Given the description of an element on the screen output the (x, y) to click on. 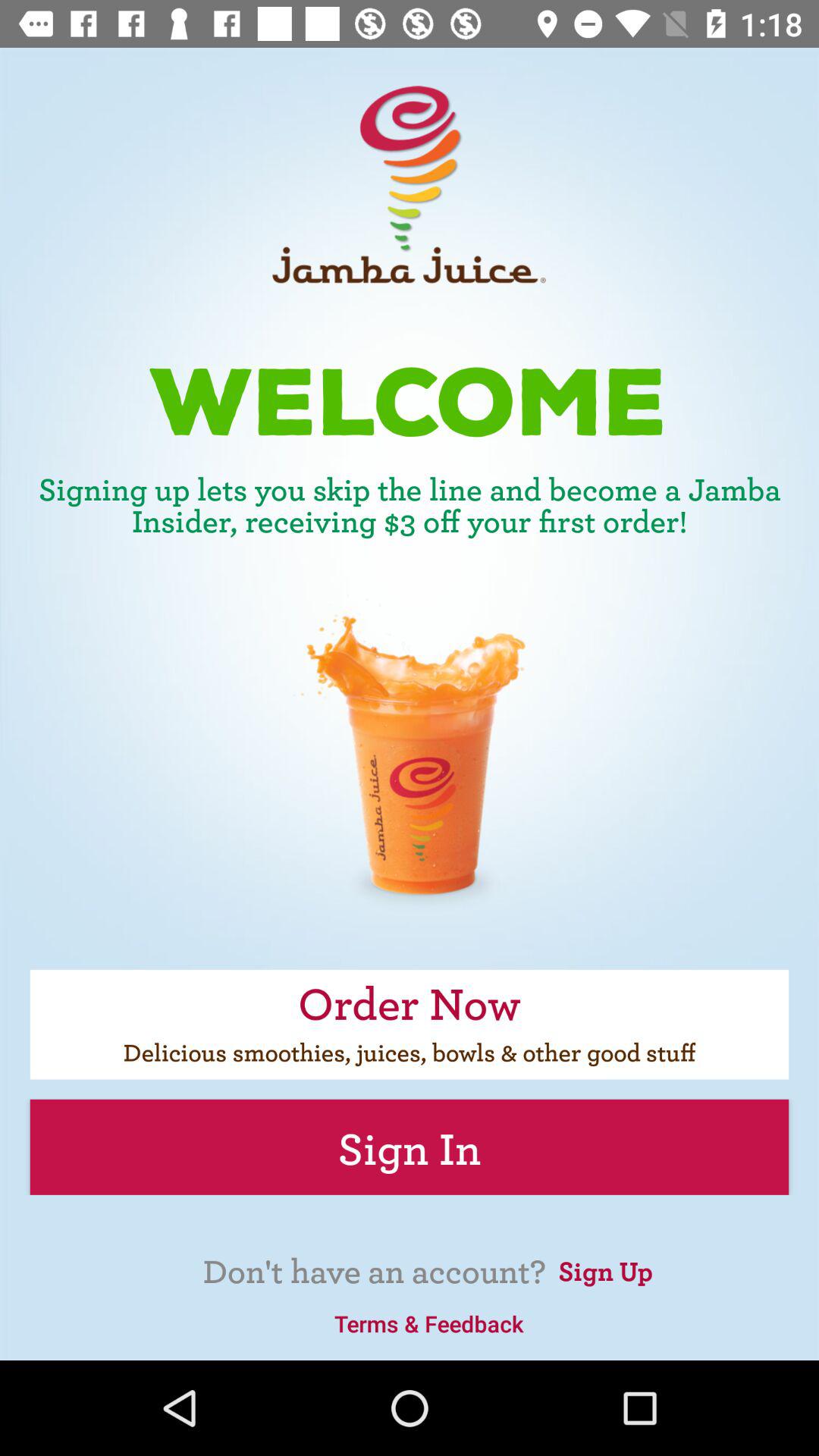
click item at the bottom right corner (605, 1268)
